Given the description of an element on the screen output the (x, y) to click on. 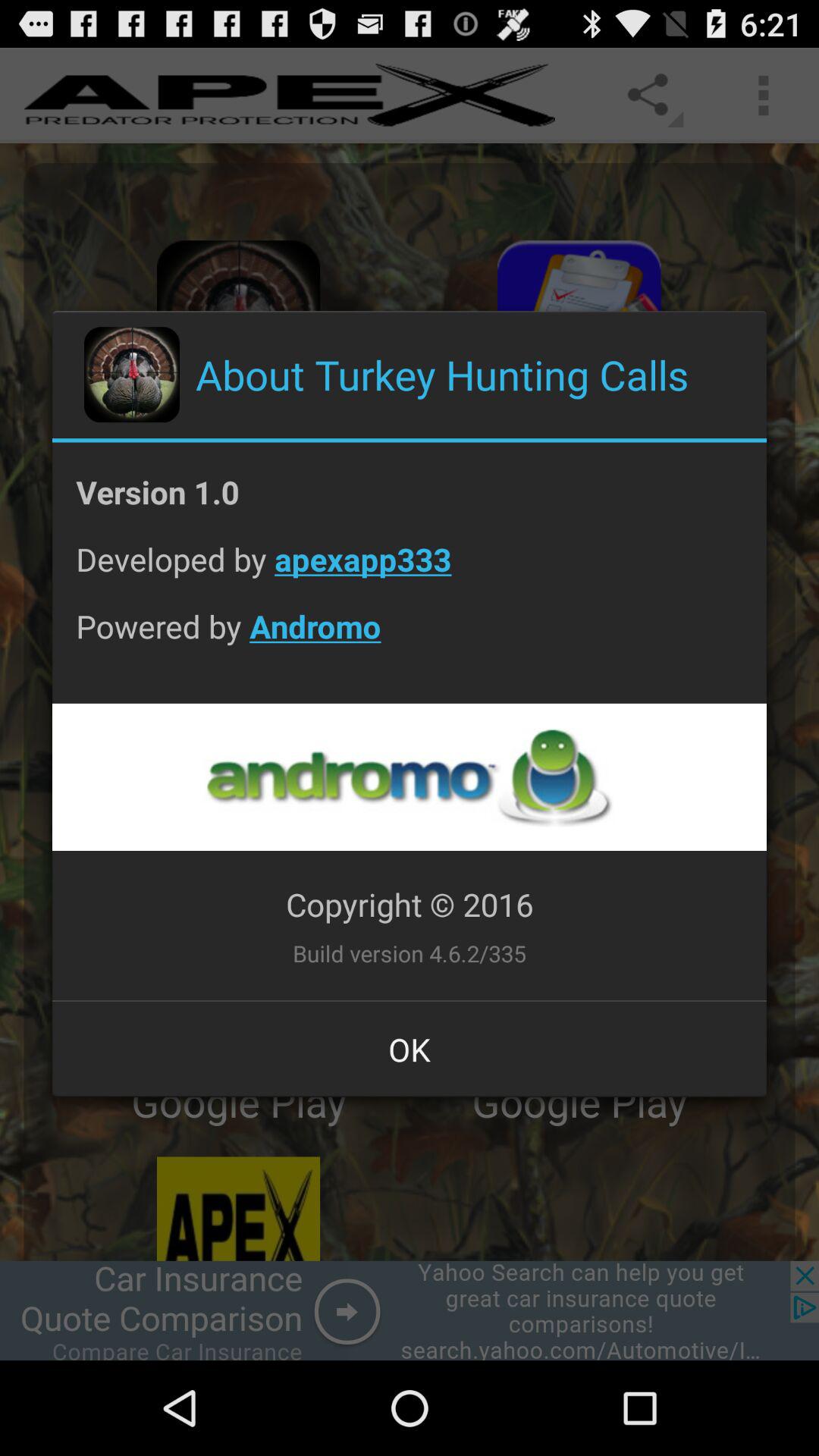
click the ok (409, 1049)
